Given the description of an element on the screen output the (x, y) to click on. 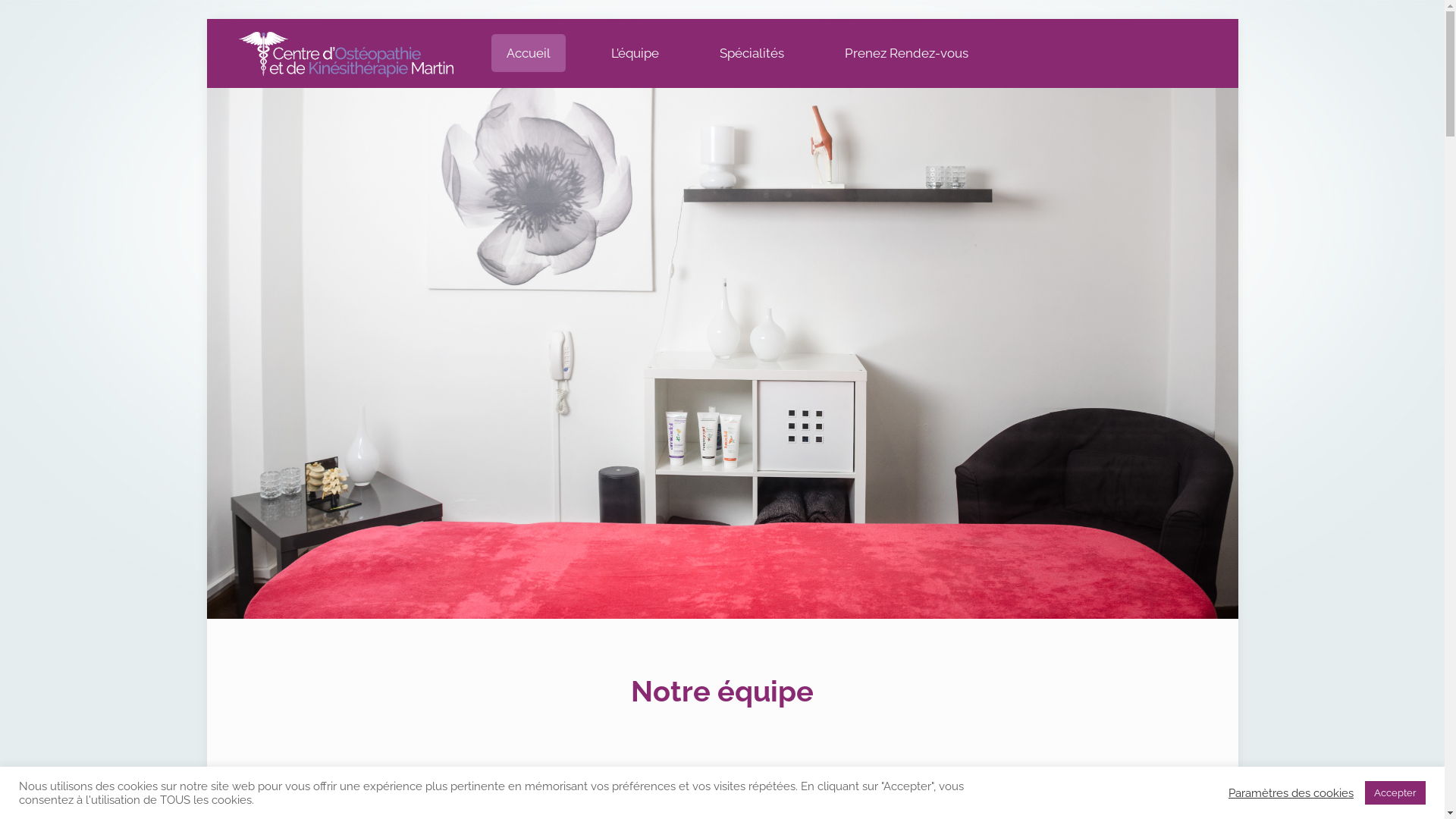
Accepter Element type: text (1395, 792)
Accueil Element type: text (528, 53)
Prenez Rendez-vous Element type: text (906, 53)
